Given the description of an element on the screen output the (x, y) to click on. 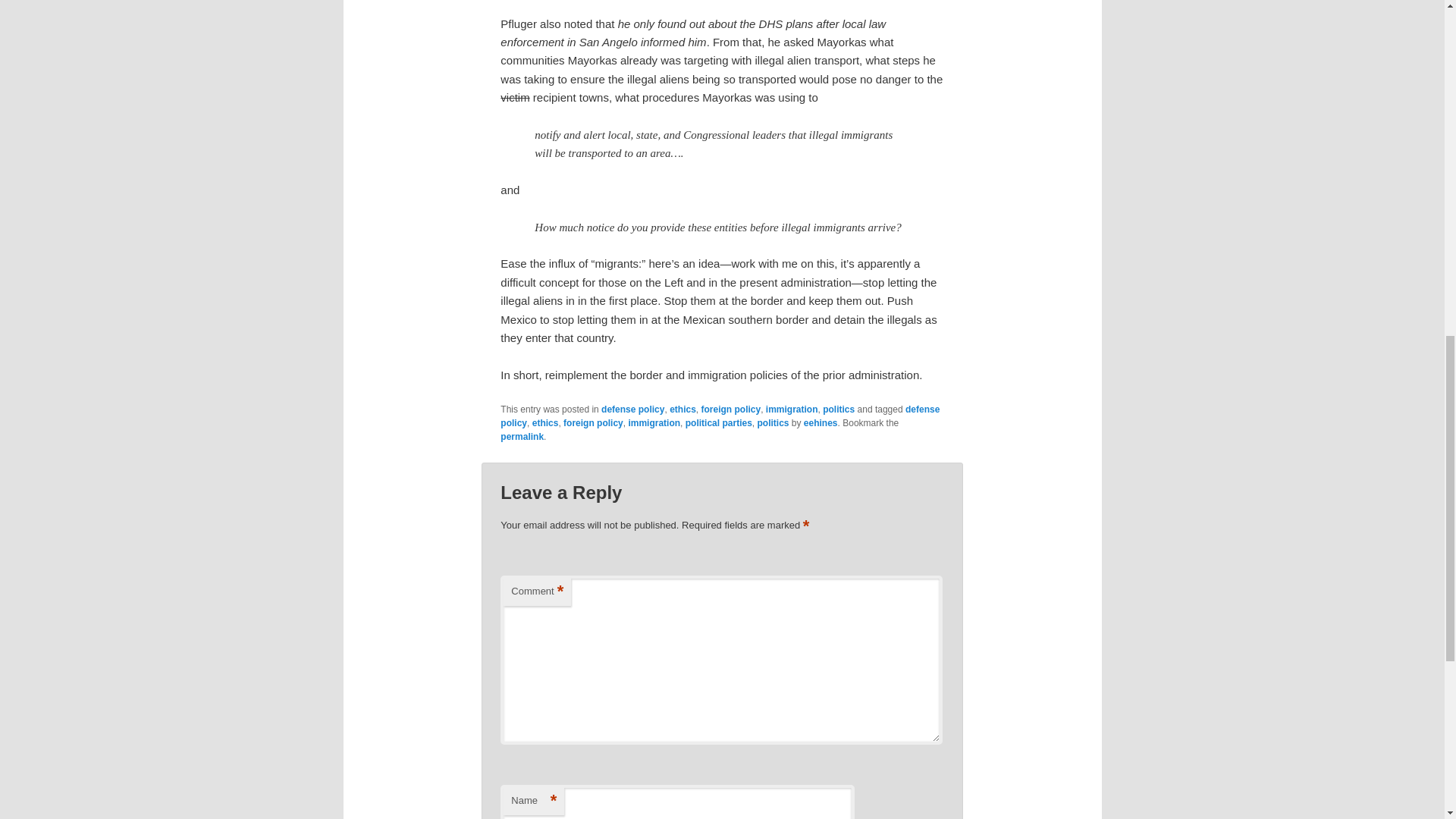
foreign policy (730, 409)
ethics (682, 409)
defense policy (632, 409)
politics (838, 409)
politics (773, 422)
defense policy (719, 416)
foreign policy (593, 422)
eehines (820, 422)
immigration (791, 409)
immigration (653, 422)
ethics (545, 422)
political parties (718, 422)
permalink (521, 436)
